Given the description of an element on the screen output the (x, y) to click on. 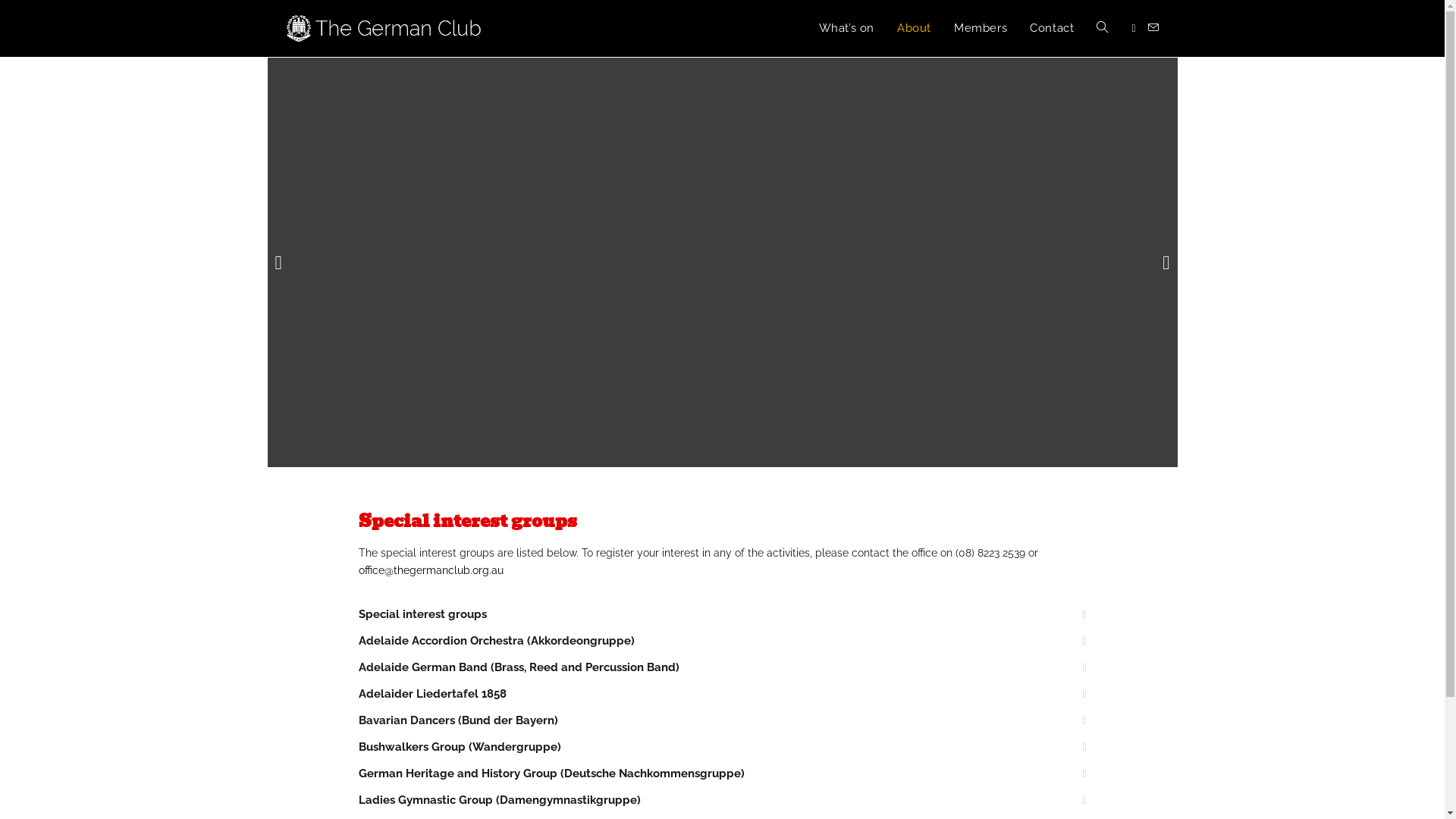
Contact Element type: text (1051, 28)
office@thegermanclub.org.au Element type: text (429, 570)
Bushwalkers Group (Wandergruppe) Element type: text (458, 746)
Members Element type: text (980, 28)
Special interest groups Element type: text (421, 614)
About Element type: text (913, 28)
Ladies Gymnastic Group (Damengymnastikgruppe) Element type: text (498, 799)
Adelaide German Band (Brass, Reed and Percussion Band) Element type: text (517, 667)
Bavarian Dancers (Bund der Bayern) Element type: text (457, 720)
Adelaider Liedertafel 1858 Element type: text (431, 693)
Adelaide Accordion Orchestra (Akkordeongruppe) Element type: text (495, 640)
